Given the description of an element on the screen output the (x, y) to click on. 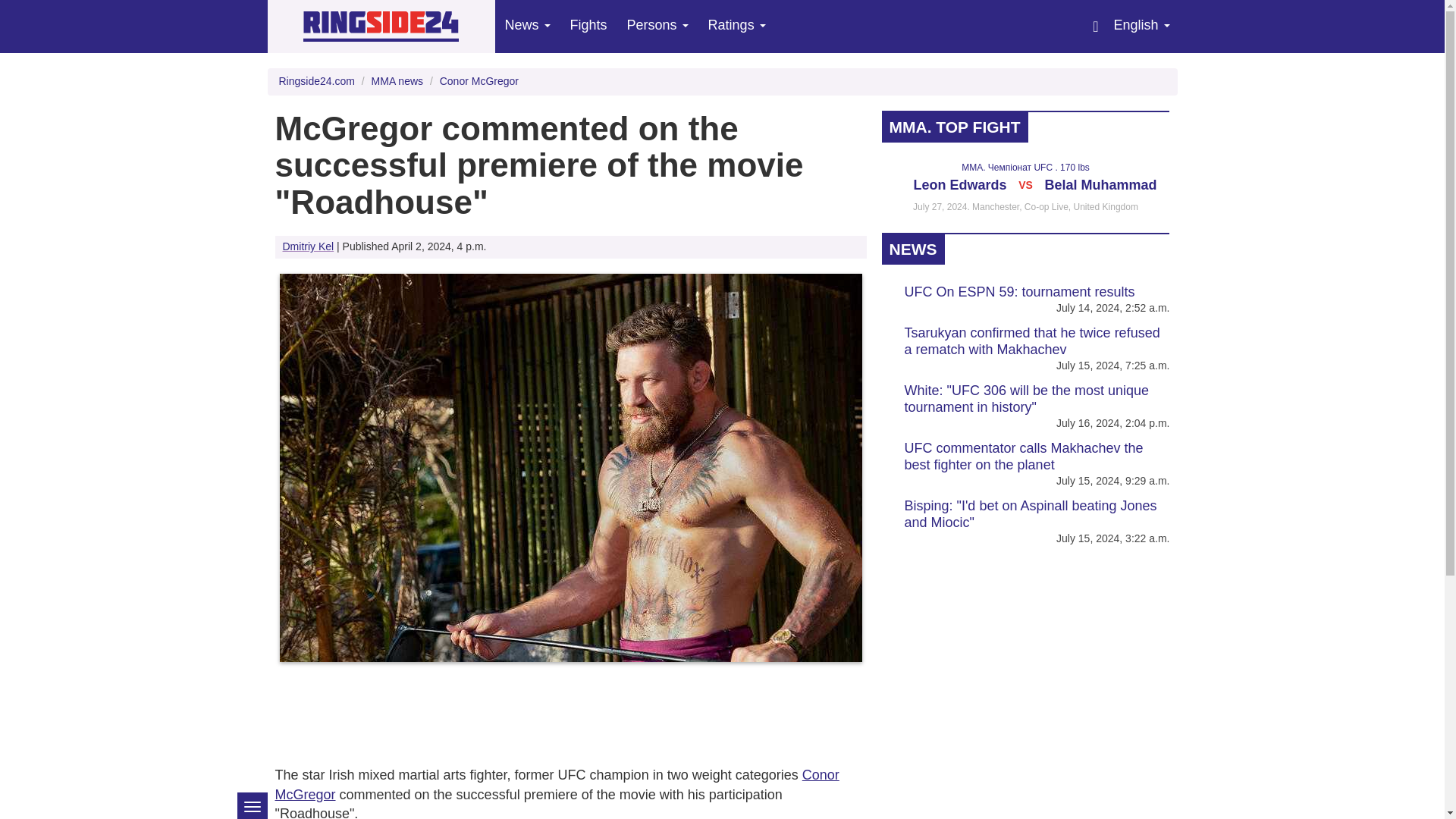
English (1140, 26)
Fights (588, 26)
Persons (657, 26)
News (527, 26)
Ratings (737, 26)
